Given the description of an element on the screen output the (x, y) to click on. 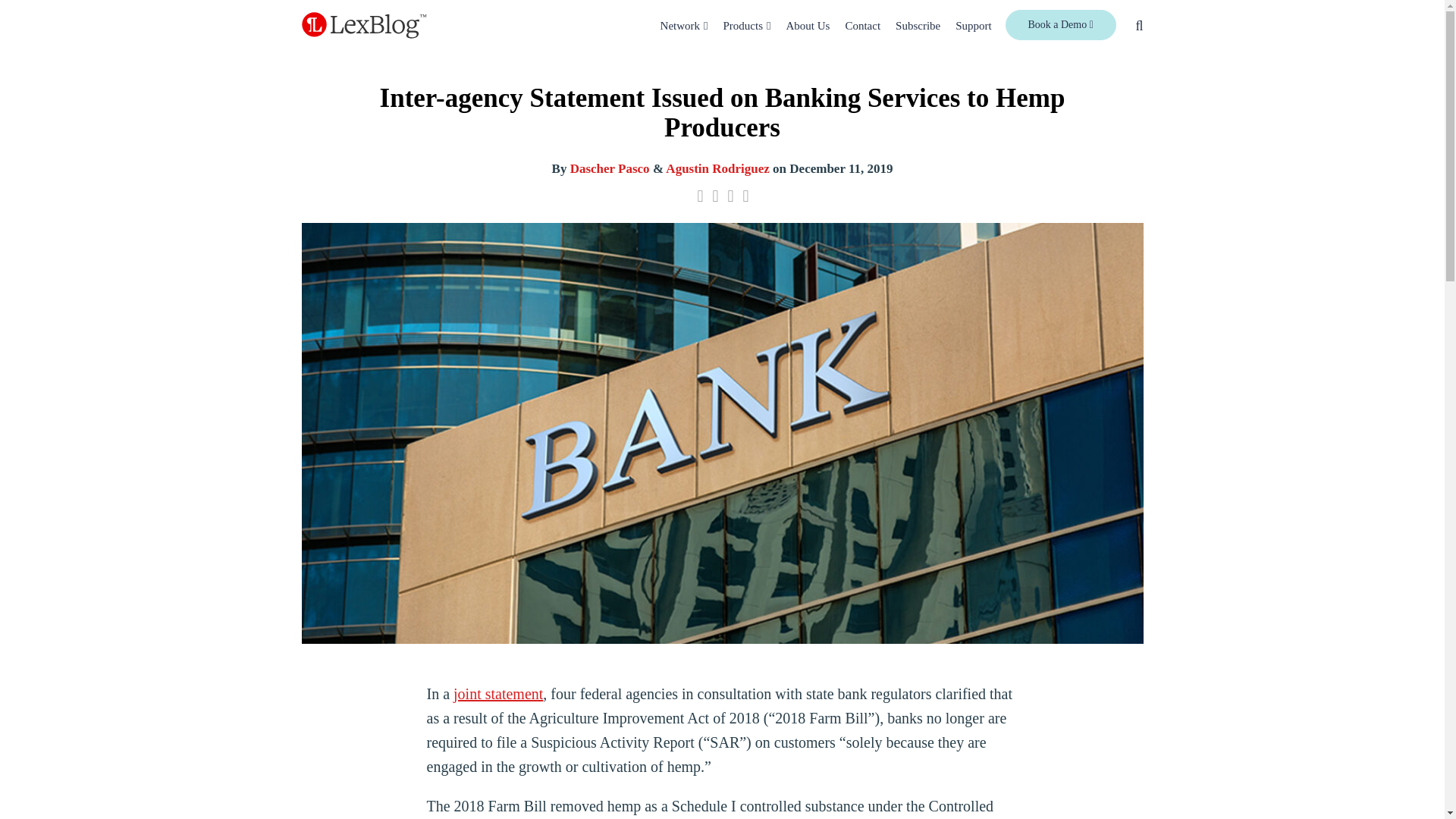
Support (973, 25)
Book a Demo (1061, 24)
Dascher Pasco (609, 168)
Products (742, 25)
joint statement (497, 693)
Subscribe (917, 25)
Network (680, 25)
About Us (807, 25)
Contact (862, 25)
Agustin Rodriguez (716, 168)
